Given the description of an element on the screen output the (x, y) to click on. 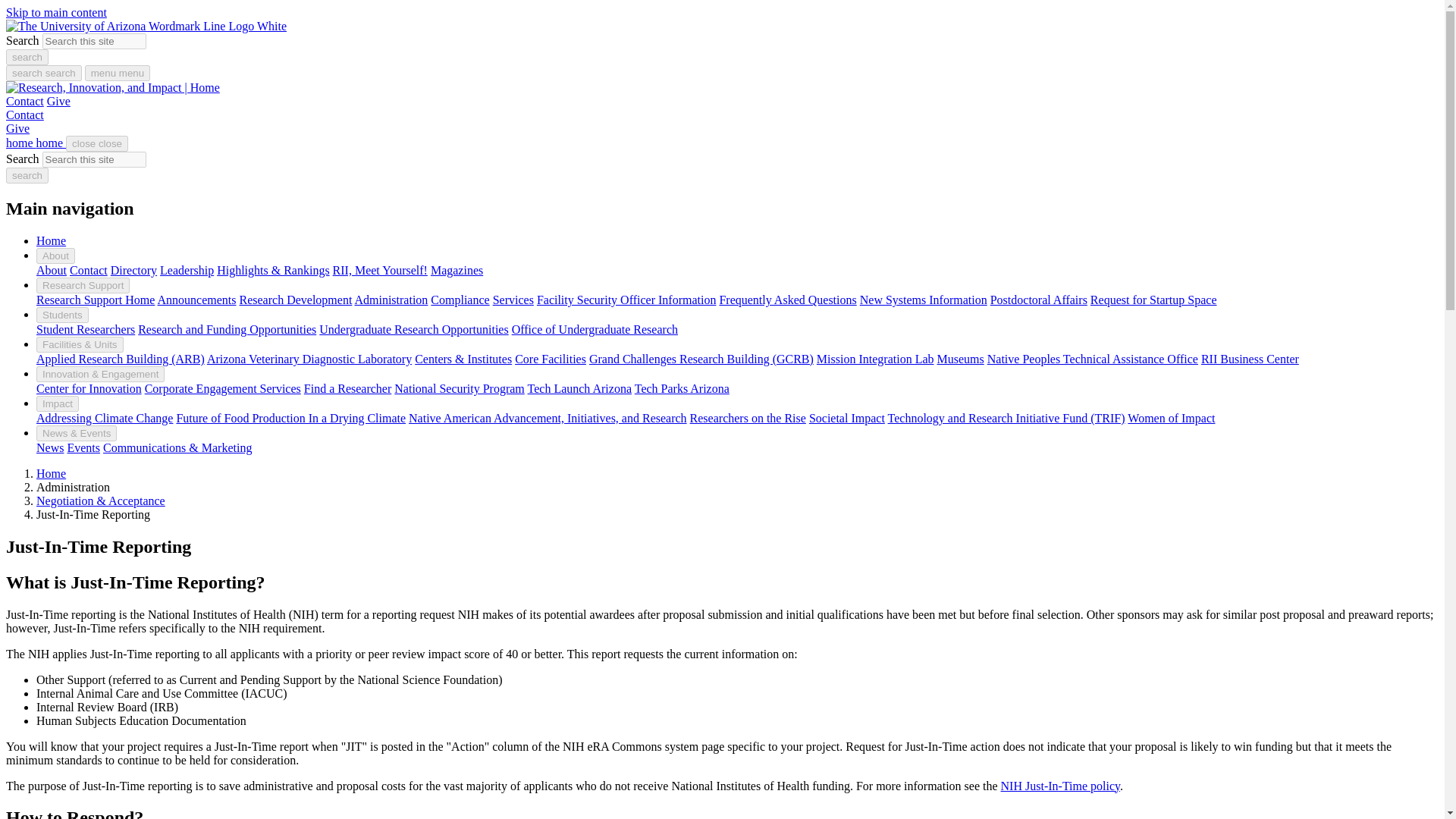
Office of Undergraduate Research (595, 328)
Office of Undergraduate Research (595, 328)
Administration (390, 299)
Contact (24, 101)
Services (513, 299)
Home (50, 240)
Undergraduate Research Opportunities (413, 328)
RII, Meet Yourself! (380, 269)
Contact (24, 114)
Postdoctoral Affairs (1038, 299)
